Given the description of an element on the screen output the (x, y) to click on. 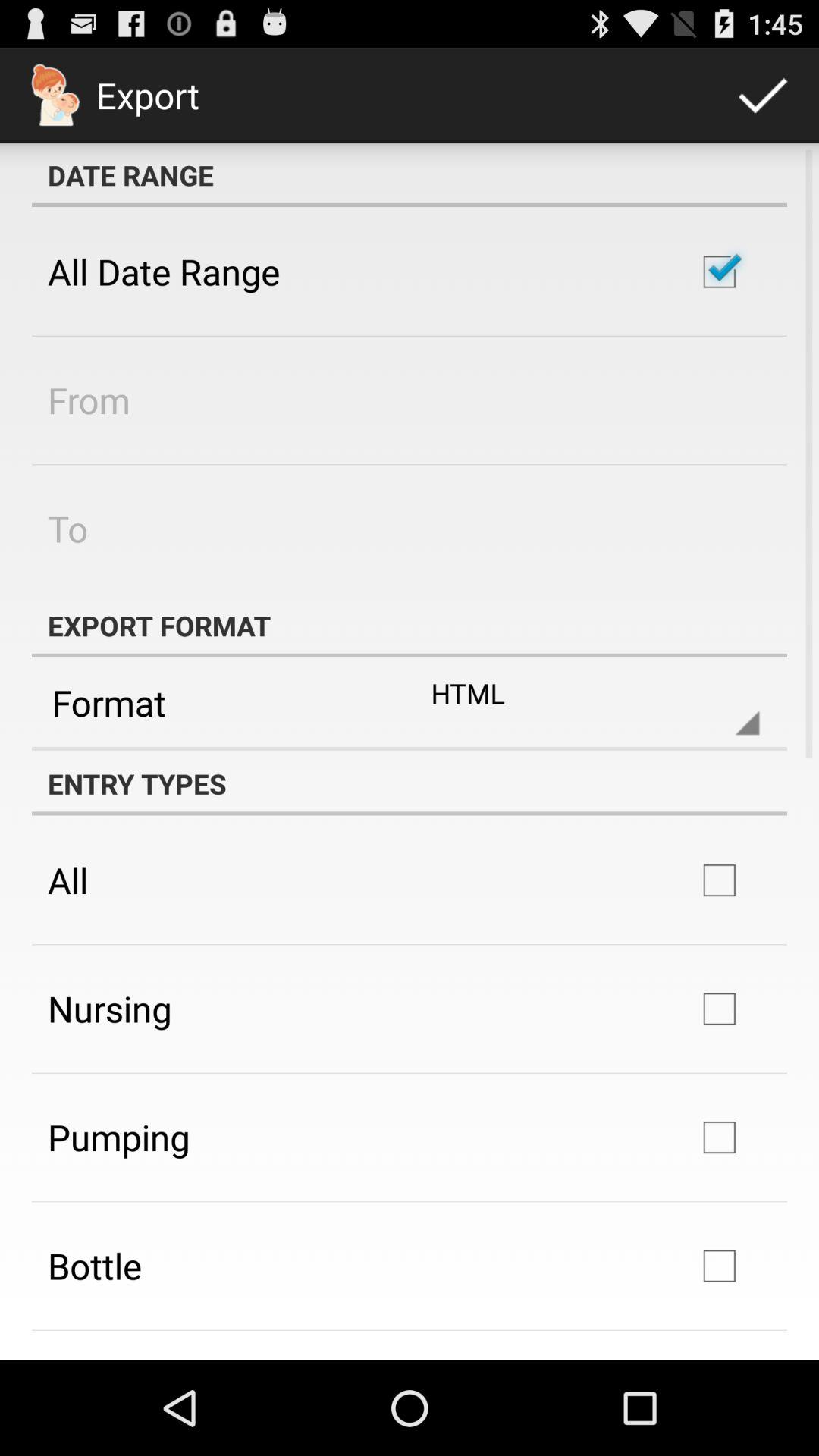
swipe to to app (67, 528)
